Given the description of an element on the screen output the (x, y) to click on. 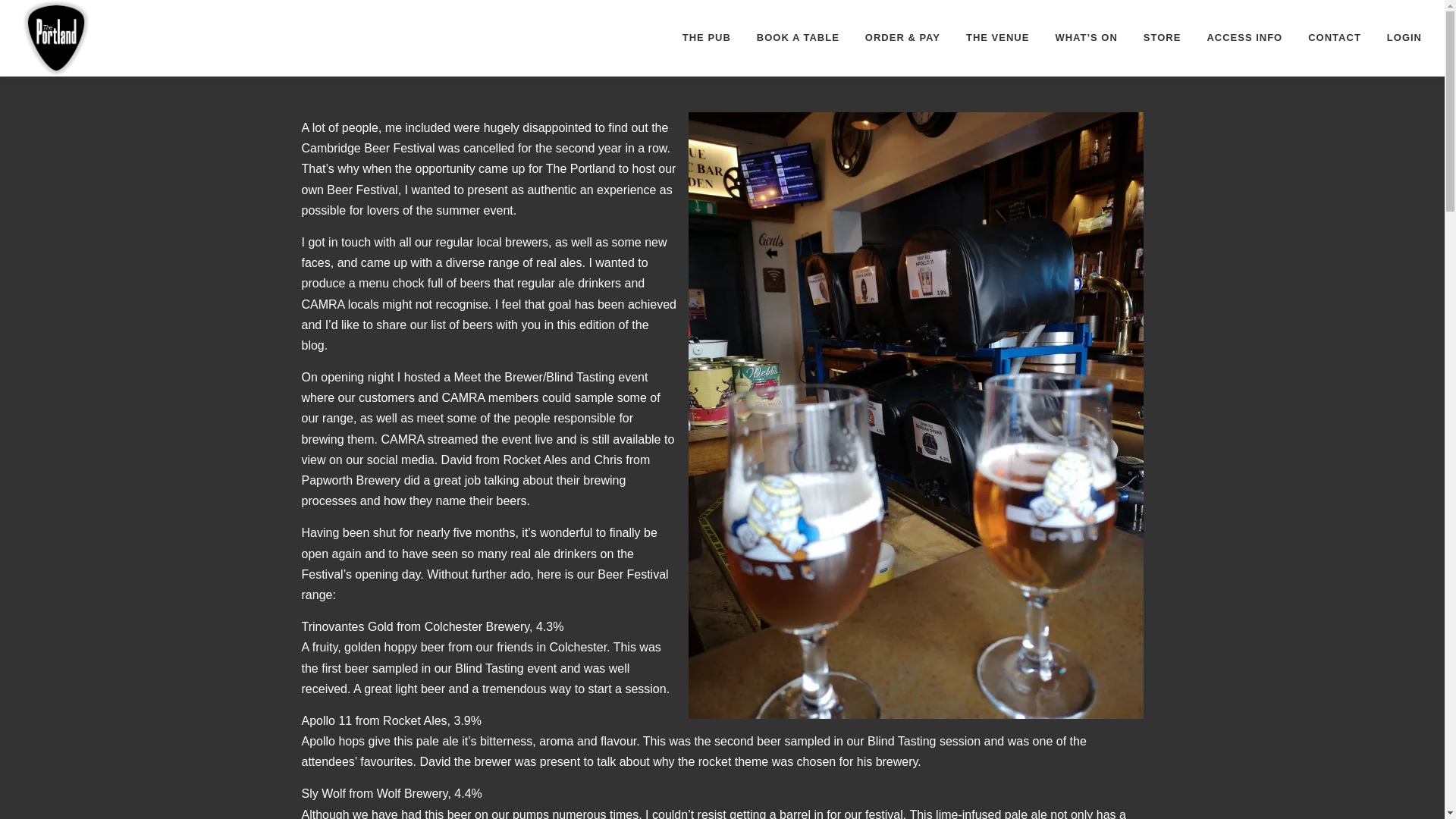
THE VENUE (997, 38)
ACCESS INFO (1244, 38)
THE PUB (706, 38)
BOOK A TABLE (797, 38)
CONTACT (1334, 38)
